Given the description of an element on the screen output the (x, y) to click on. 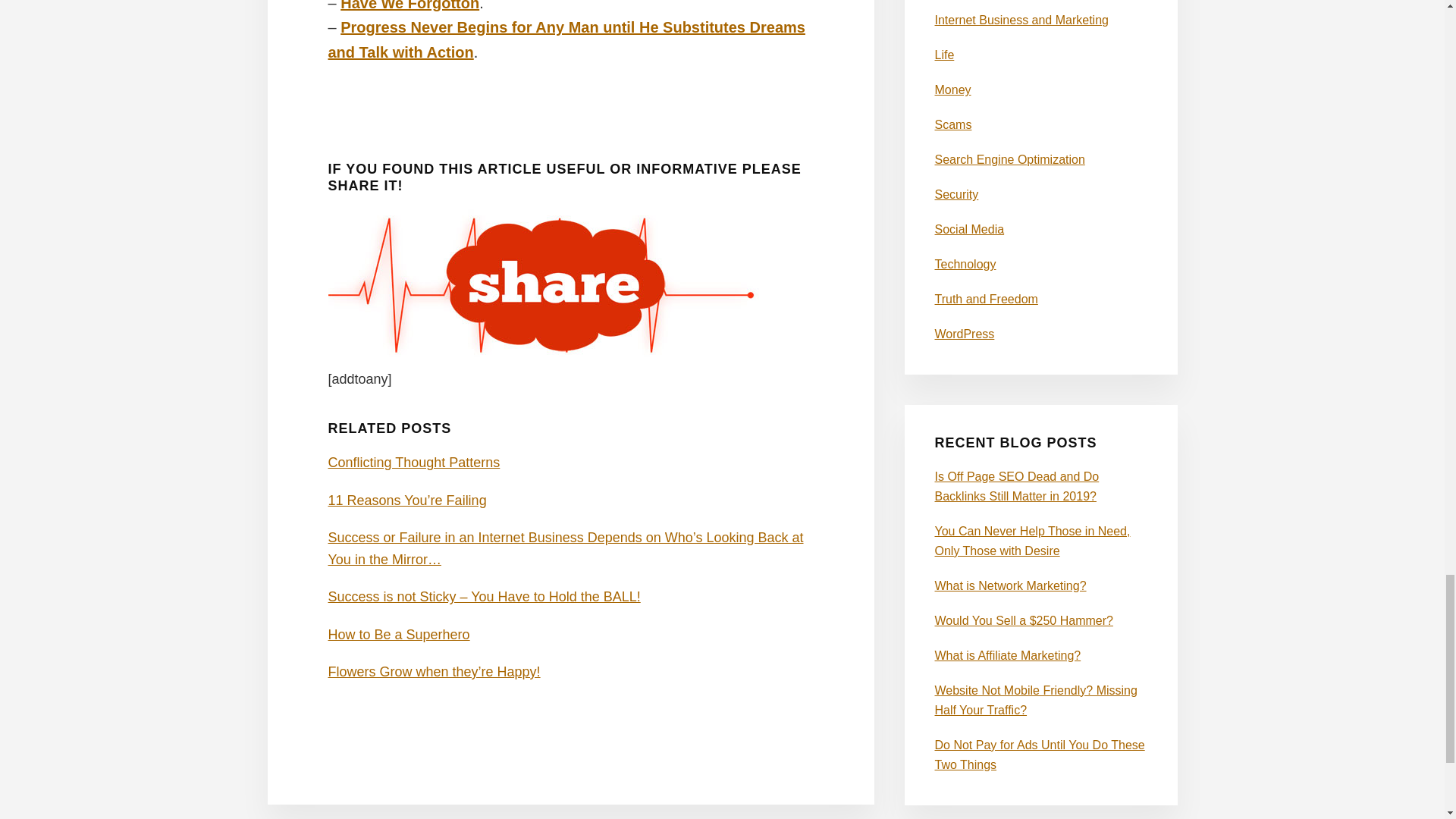
Have We Forgotton (409, 5)
How to Be a Superhero (397, 634)
Conflicting Thought Patterns (413, 462)
